Given the description of an element on the screen output the (x, y) to click on. 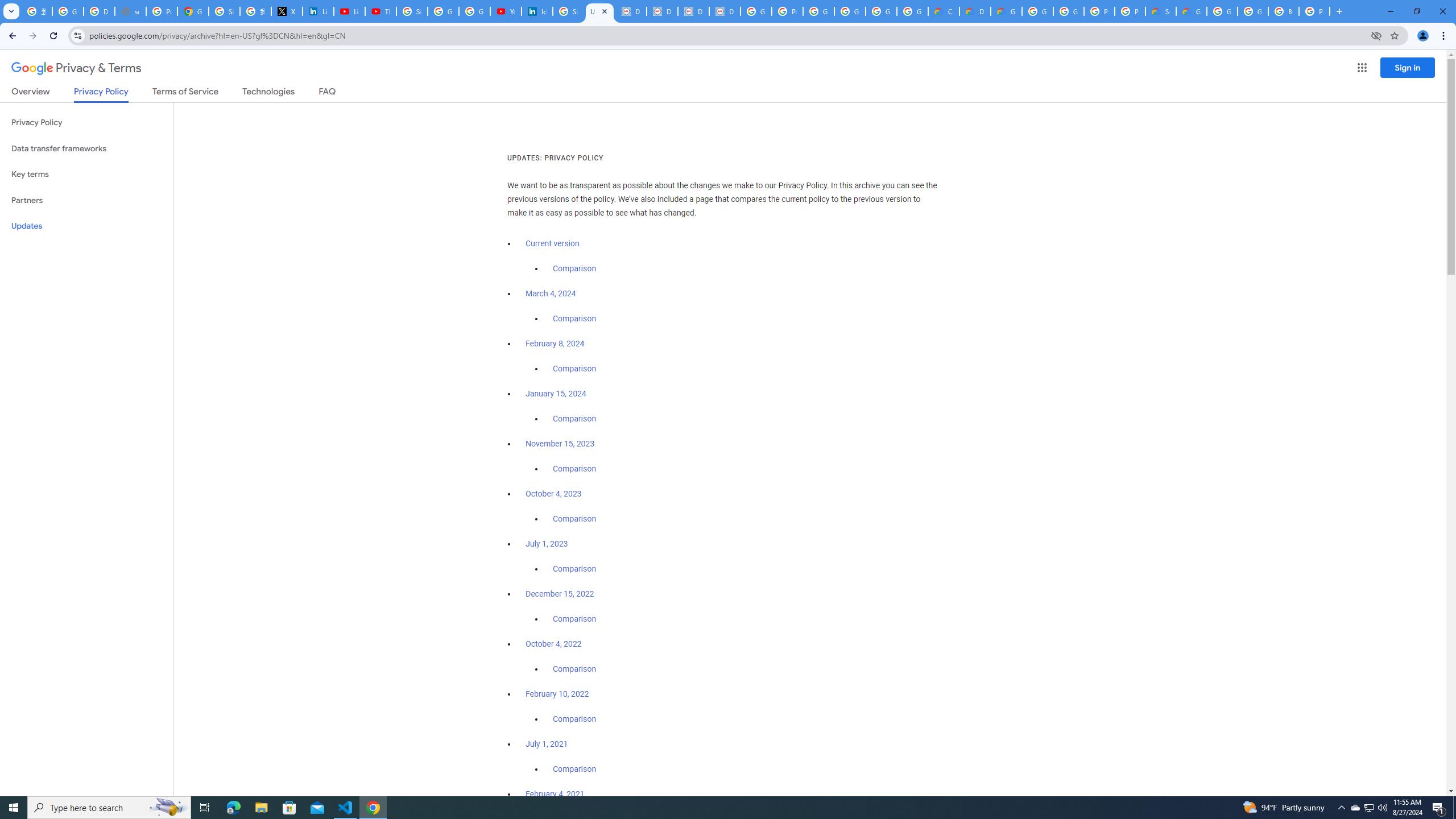
Sign in - Google Accounts (223, 11)
Google Cloud Platform (1222, 11)
Google Workspace - Specific Terms (912, 11)
support.google.com - Network error (130, 11)
October 4, 2023 (553, 493)
Customer Care | Google Cloud (943, 11)
Current version (552, 243)
X (286, 11)
